Given the description of an element on the screen output the (x, y) to click on. 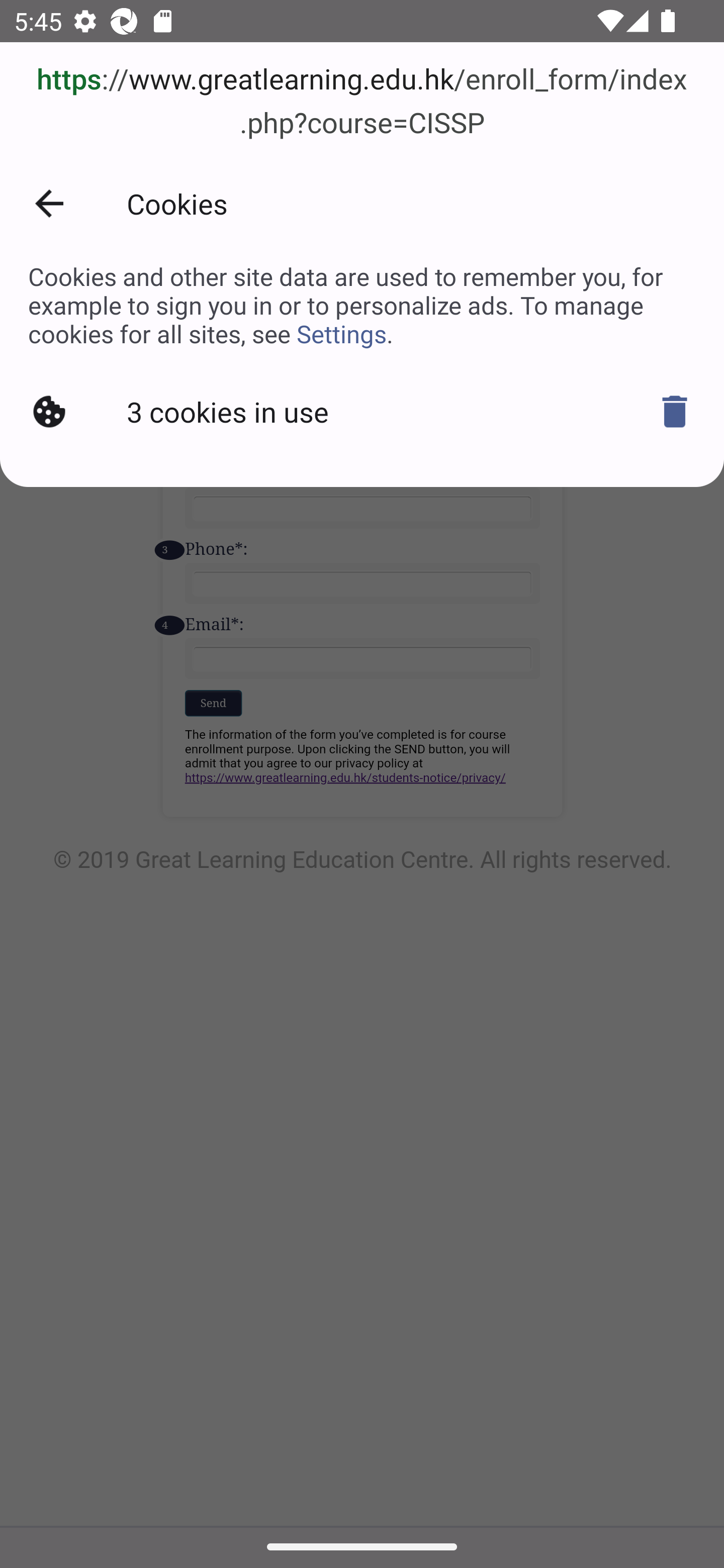
Back (49, 203)
3 cookies in use Clear cookies? (362, 411)
